Given the description of an element on the screen output the (x, y) to click on. 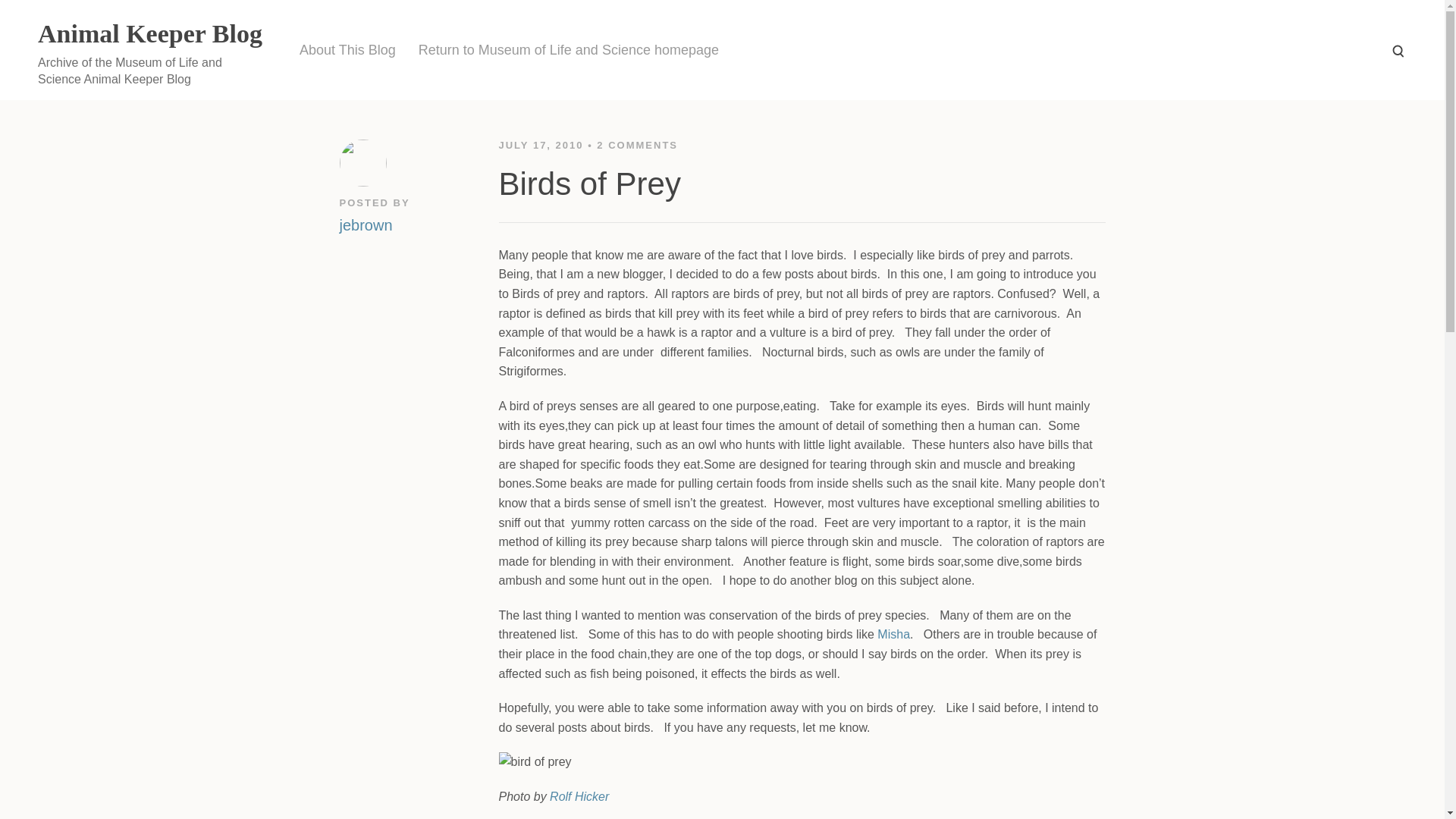
jebrown (366, 223)
Misha (893, 634)
Search (1396, 50)
Return to Museum of Life and Science homepage (569, 49)
Search (1396, 50)
About This Blog (347, 49)
Mishas profile (893, 634)
Animal Keeper Blog (149, 33)
Rolf Hicker (579, 796)
2 COMMENTS (637, 144)
